Given the description of an element on the screen output the (x, y) to click on. 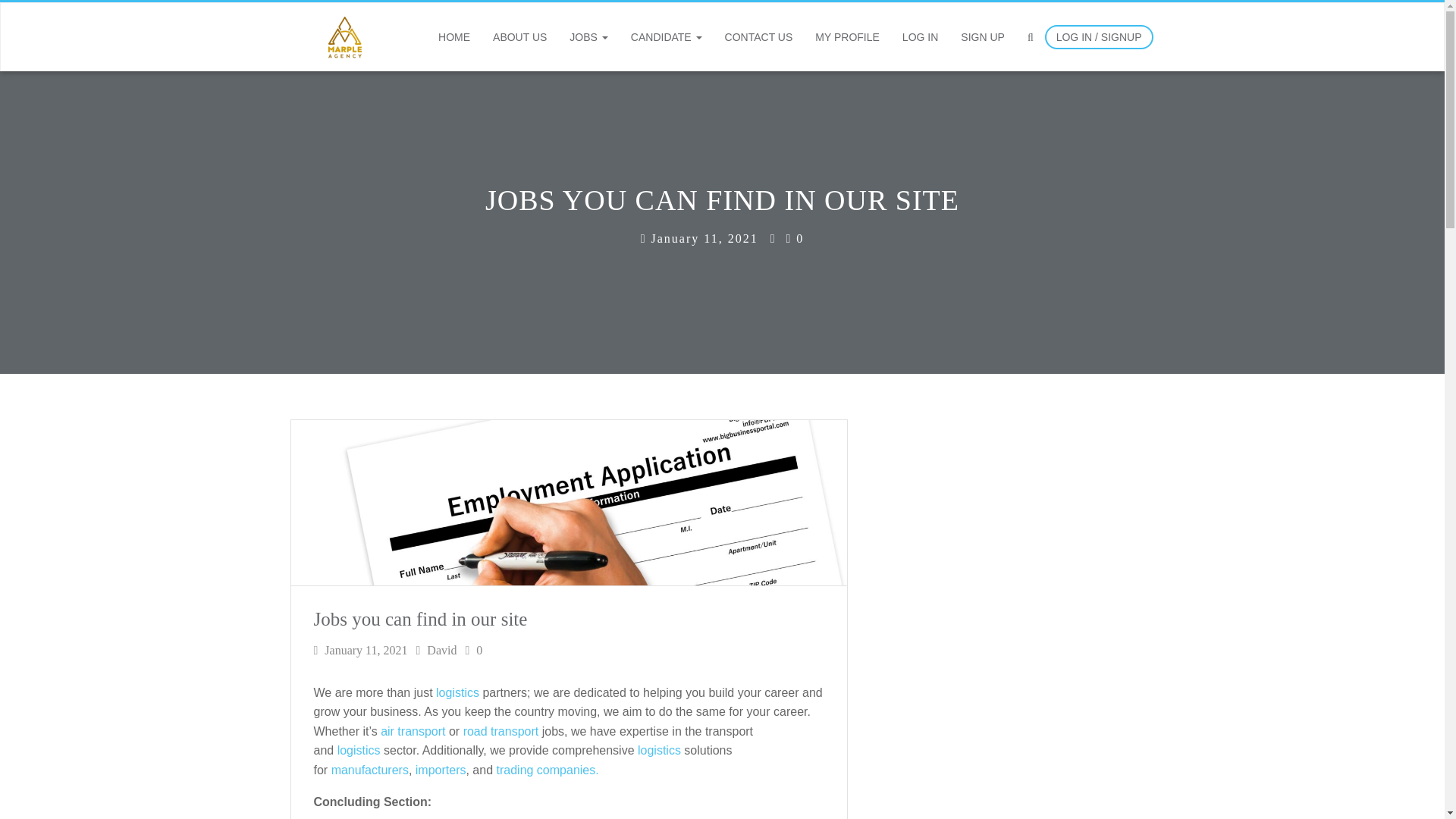
Sign Up (982, 37)
CANDIDATE (666, 37)
January 11, 2021 (699, 237)
0 (794, 237)
SIGN UP (982, 37)
January 11, 2021 (360, 649)
candidate (666, 37)
air transport (412, 730)
About us (519, 37)
MY PROFILE (847, 37)
Contact us (759, 37)
road transport (500, 730)
Search  (1041, 105)
0 (472, 649)
CONTACT US (759, 37)
